Given the description of an element on the screen output the (x, y) to click on. 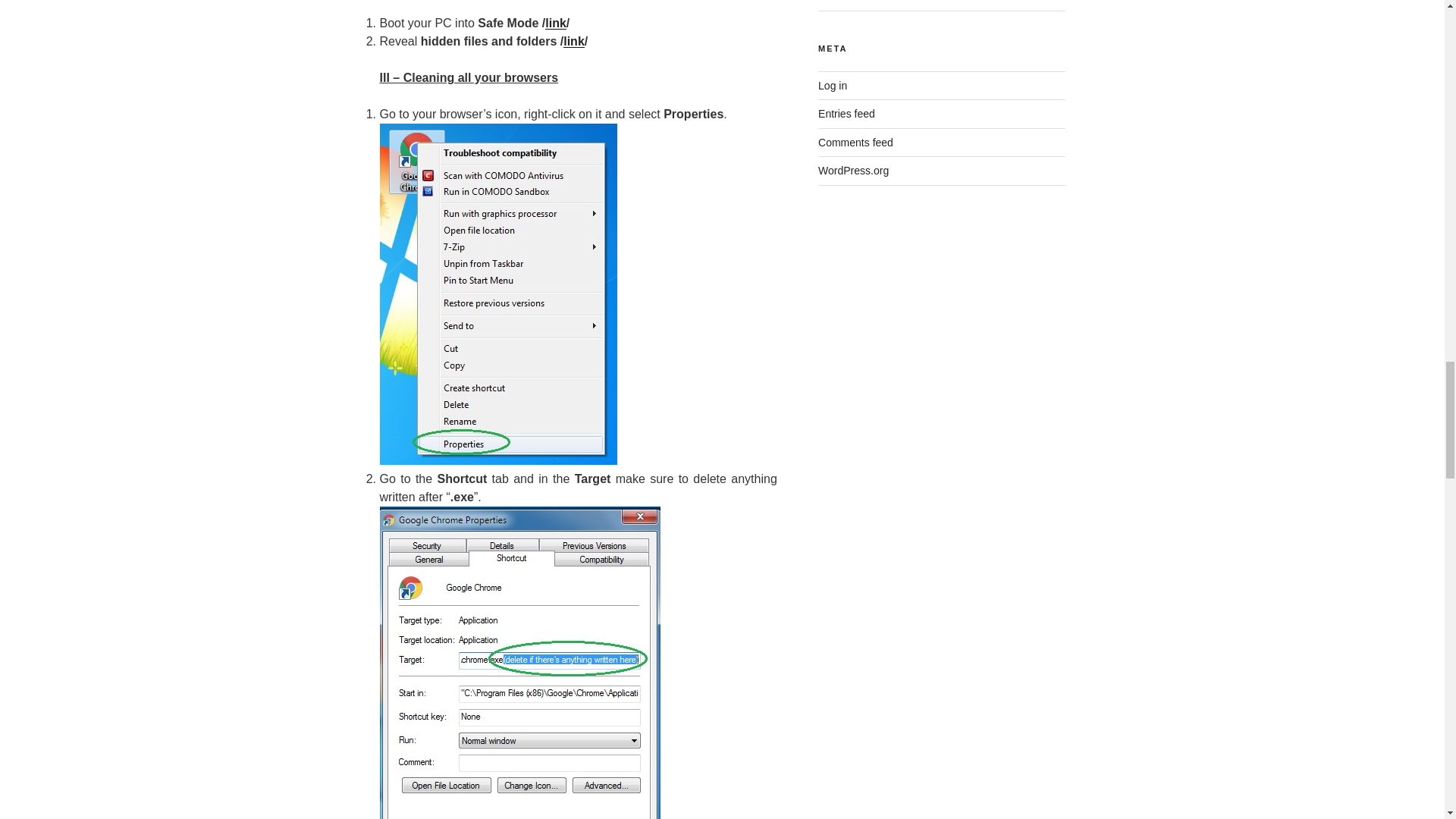
Delete Text After .exe (518, 662)
link (555, 22)
link (574, 41)
